Given the description of an element on the screen output the (x, y) to click on. 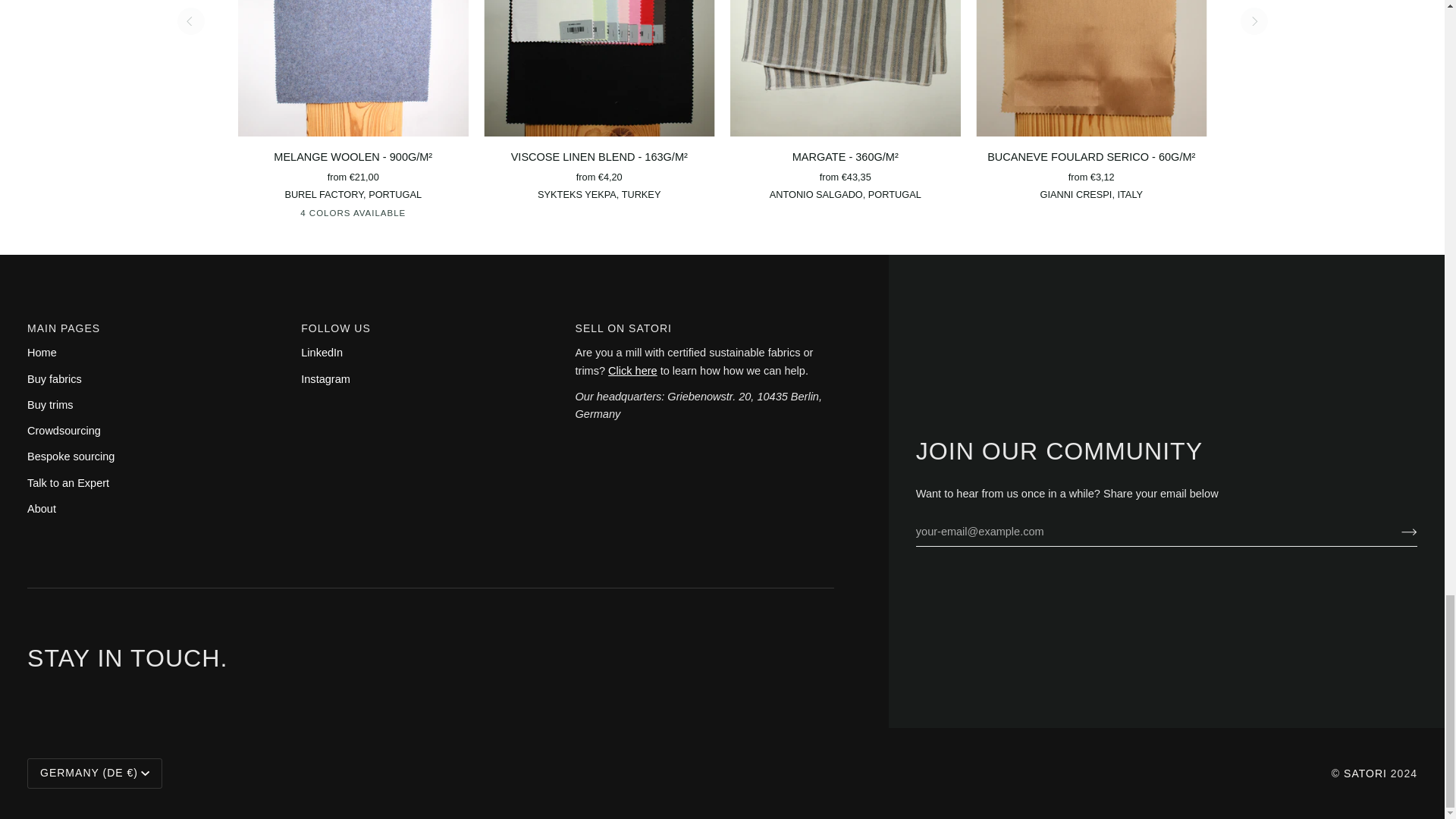
Sell on Satori (633, 370)
